Given the description of an element on the screen output the (x, y) to click on. 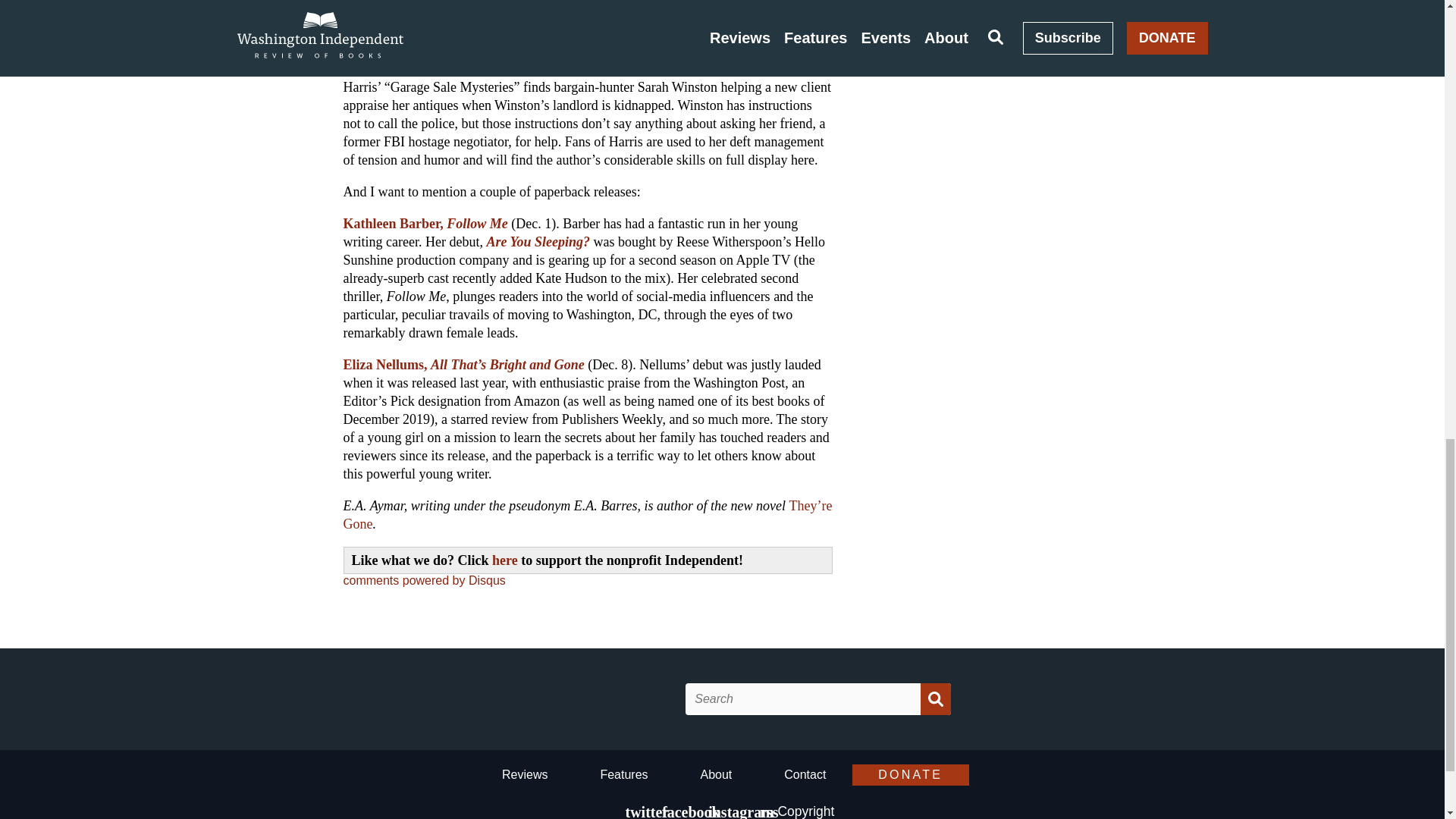
Kathleen Barber, Follow Me (424, 223)
comments powered by Disqus (423, 580)
Are You Sleeping? (537, 241)
here (505, 560)
Sherry Harris, Absence of Alice (433, 68)
